Given the description of an element on the screen output the (x, y) to click on. 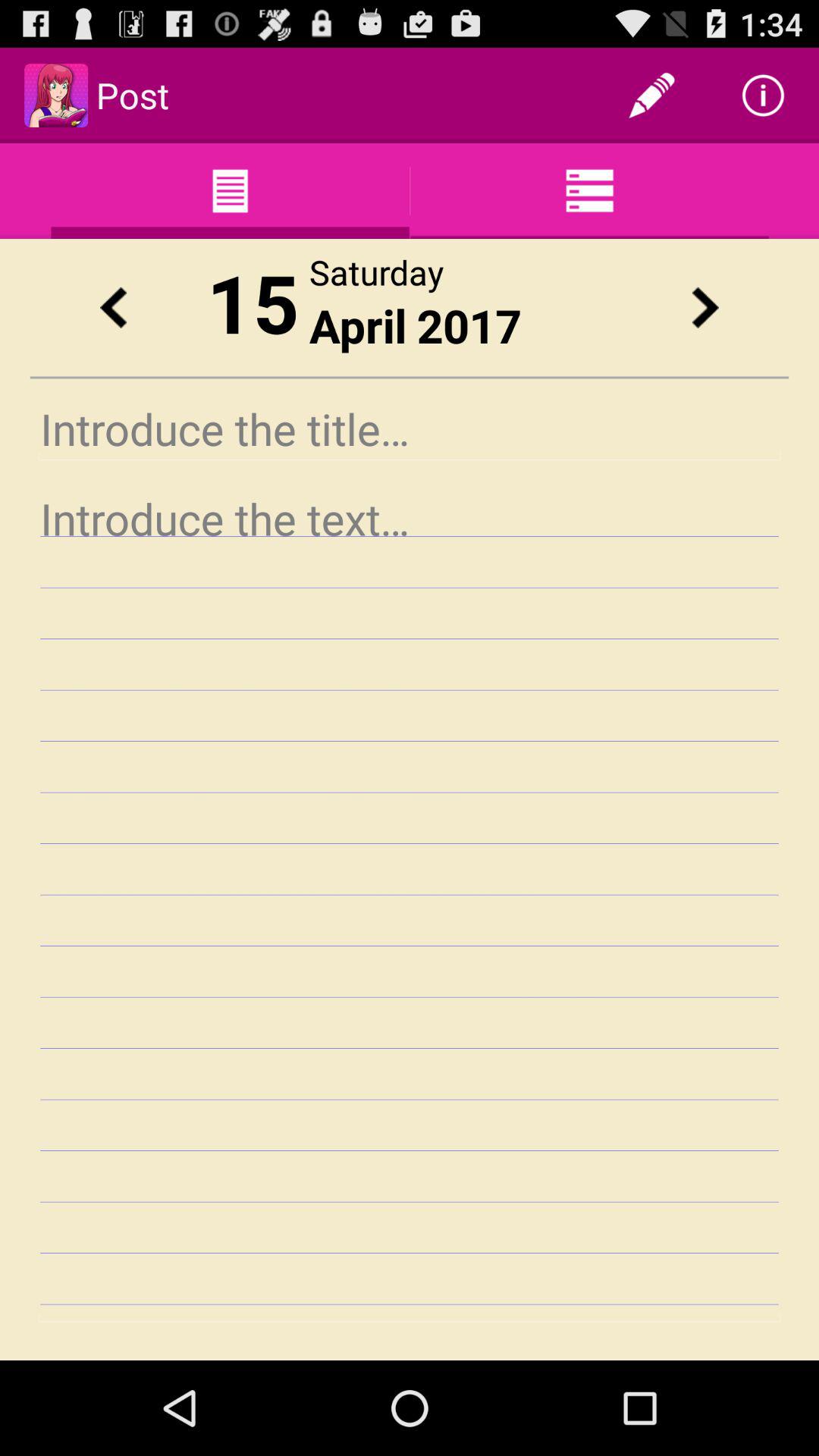
tap item to the right of post icon (651, 95)
